Given the description of an element on the screen output the (x, y) to click on. 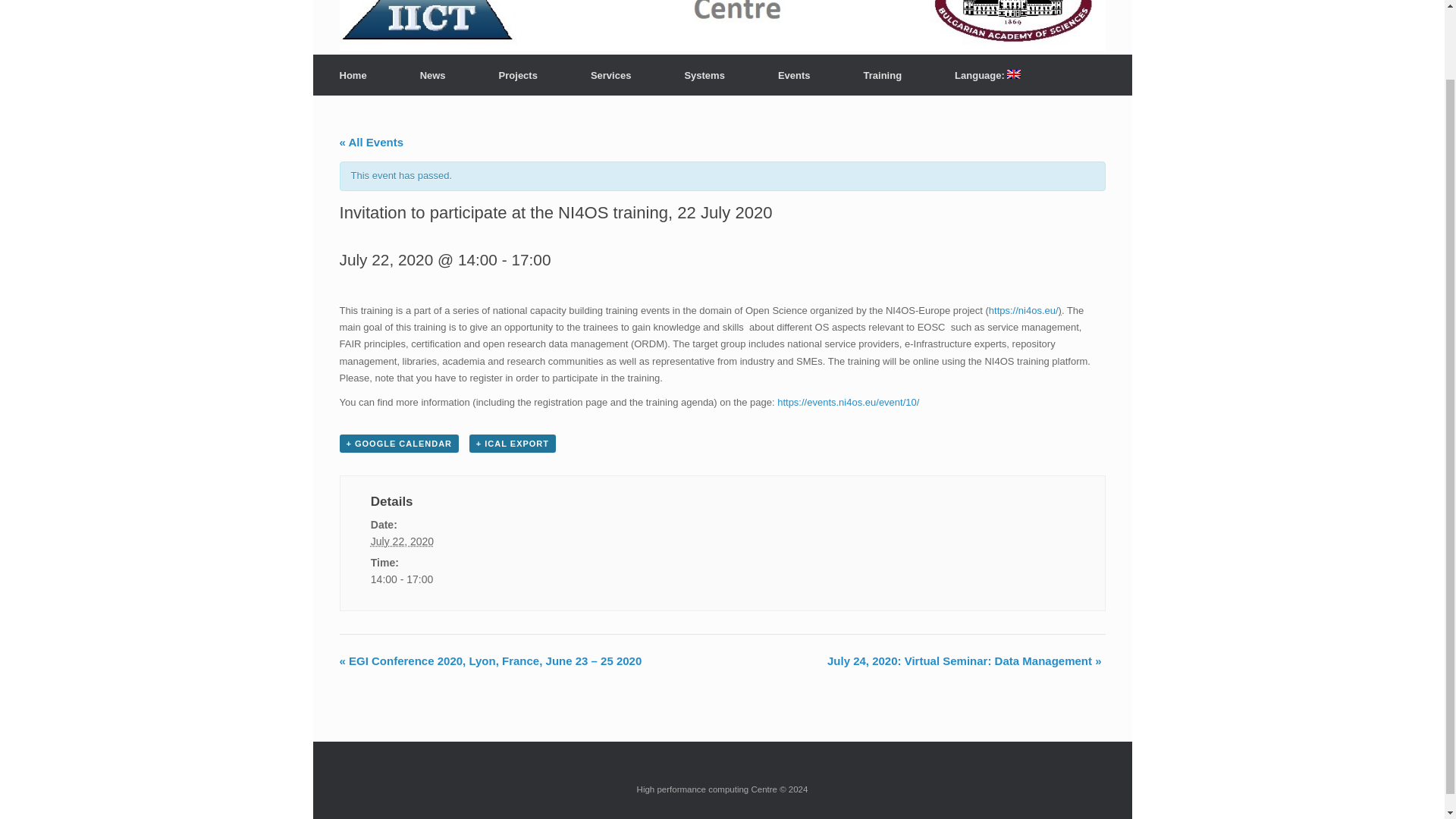
2020-07-22 (467, 579)
Home (353, 75)
Events (794, 75)
Services (611, 75)
Download .ics file (512, 443)
English (987, 74)
Training (882, 75)
2020-07-22 (402, 541)
High performance computing Centre (558, 10)
High performance computing Centre (558, 10)
Add to Google Calendar (399, 443)
News (432, 75)
Systems (704, 75)
Projects (517, 75)
Language:  (987, 74)
